Given the description of an element on the screen output the (x, y) to click on. 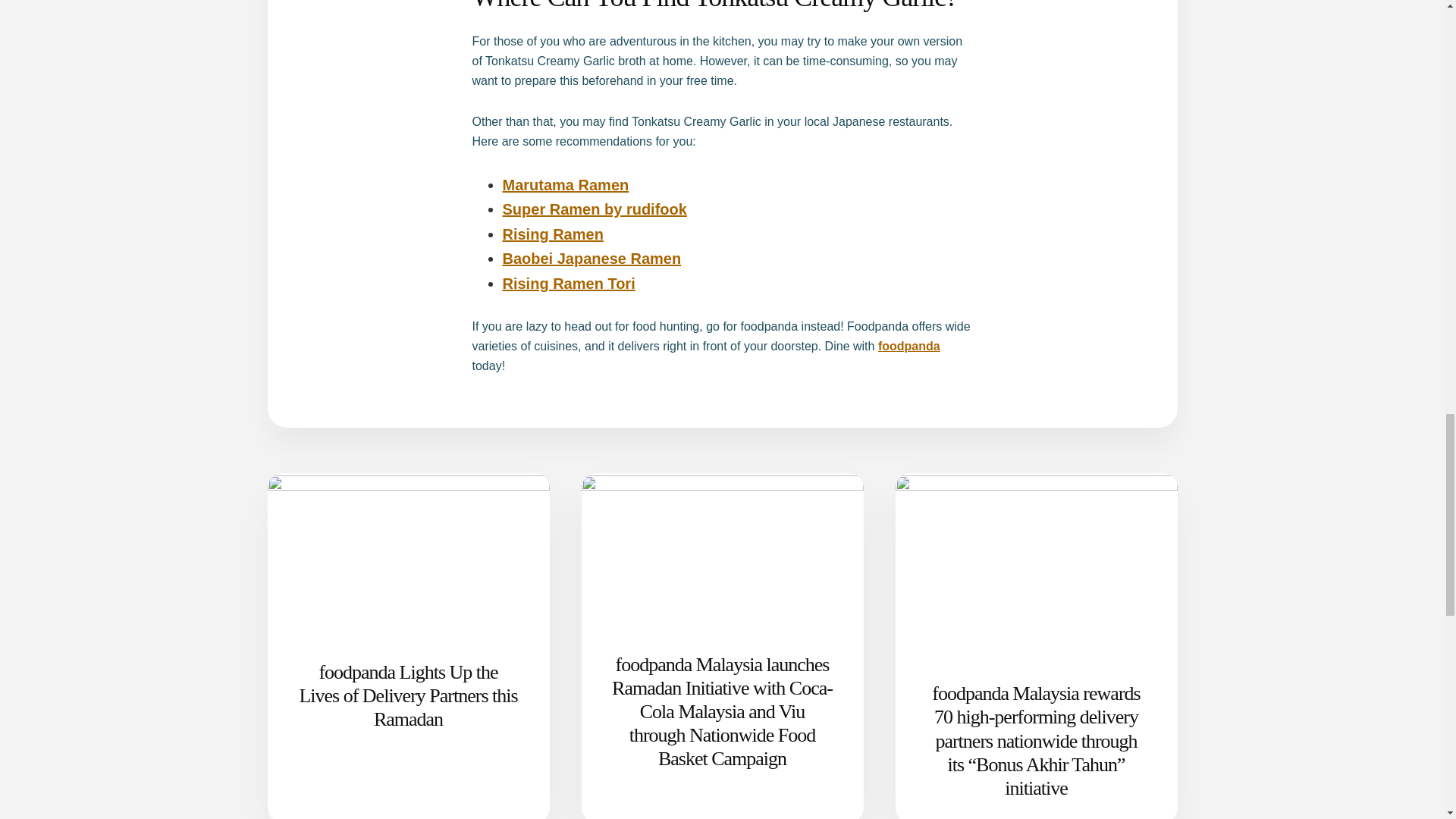
Baobei Japanese Ramen (591, 258)
Super Ramen by rudifook (593, 208)
Rising Ramen Tori (568, 283)
Rising Ramen (552, 234)
foodpanda (908, 345)
Marutama Ramen (565, 184)
